Given the description of an element on the screen output the (x, y) to click on. 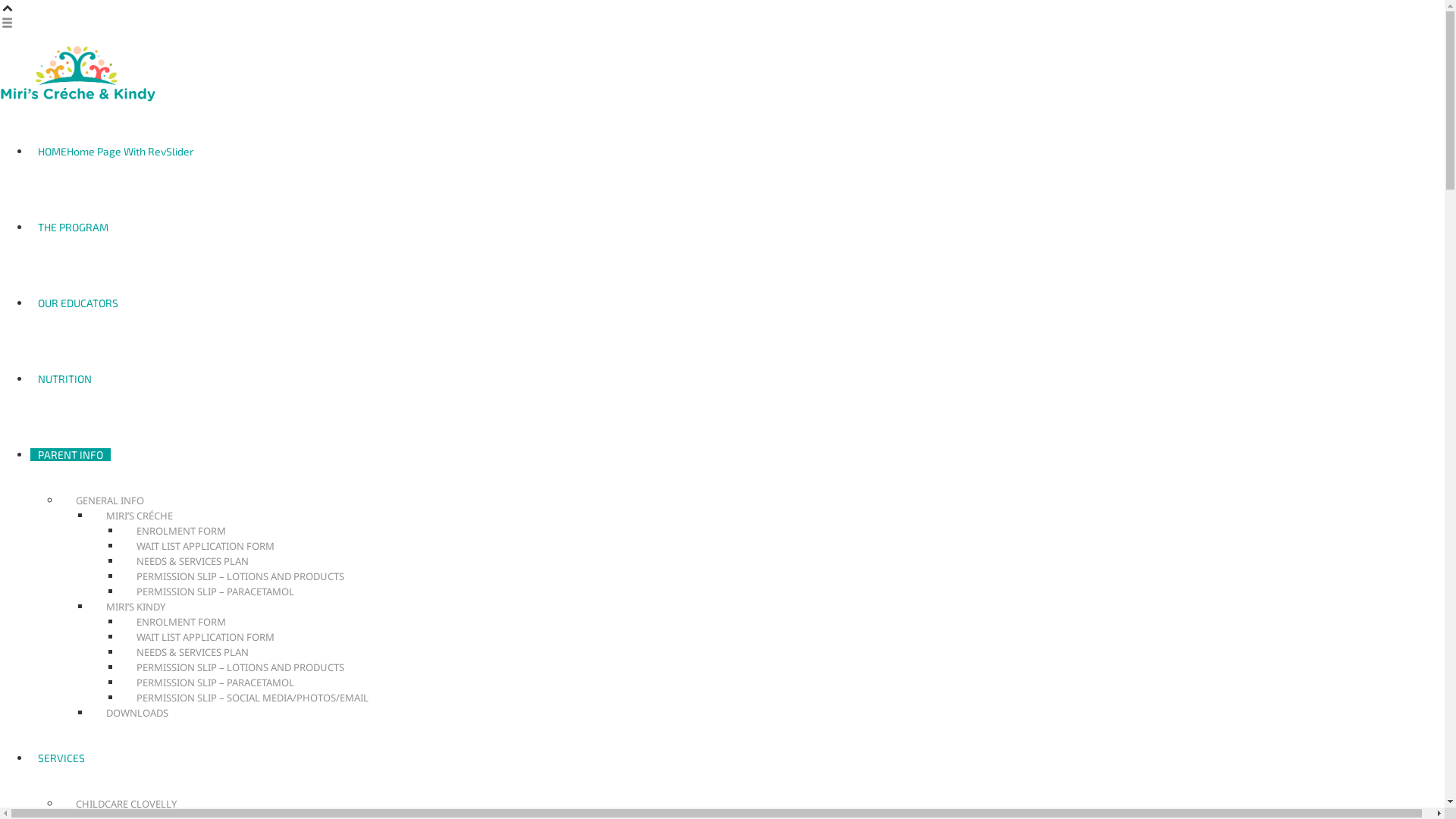
NUTRITION Element type: text (64, 378)
WAIT LIST APPLICATION FORM Element type: text (205, 636)
ENROLMENT FORM Element type: text (181, 530)
NEEDS & SERVICES PLAN Element type: text (192, 560)
SERVICES Element type: text (61, 757)
THE PROGRAM Element type: text (73, 226)
PARENT INFO Element type: text (70, 454)
WAIT LIST APPLICATION FORM Element type: text (205, 545)
GENERAL INFO Element type: text (109, 500)
ENROLMENT FORM Element type: text (181, 621)
DOWNLOADS Element type: text (137, 712)
NEEDS & SERVICES PLAN Element type: text (192, 651)
CHILDCARE CLOVELLY Element type: text (125, 803)
OUR EDUCATORS Element type: text (77, 302)
HOMEHome Page With RevSlider Element type: text (115, 150)
